Given the description of an element on the screen output the (x, y) to click on. 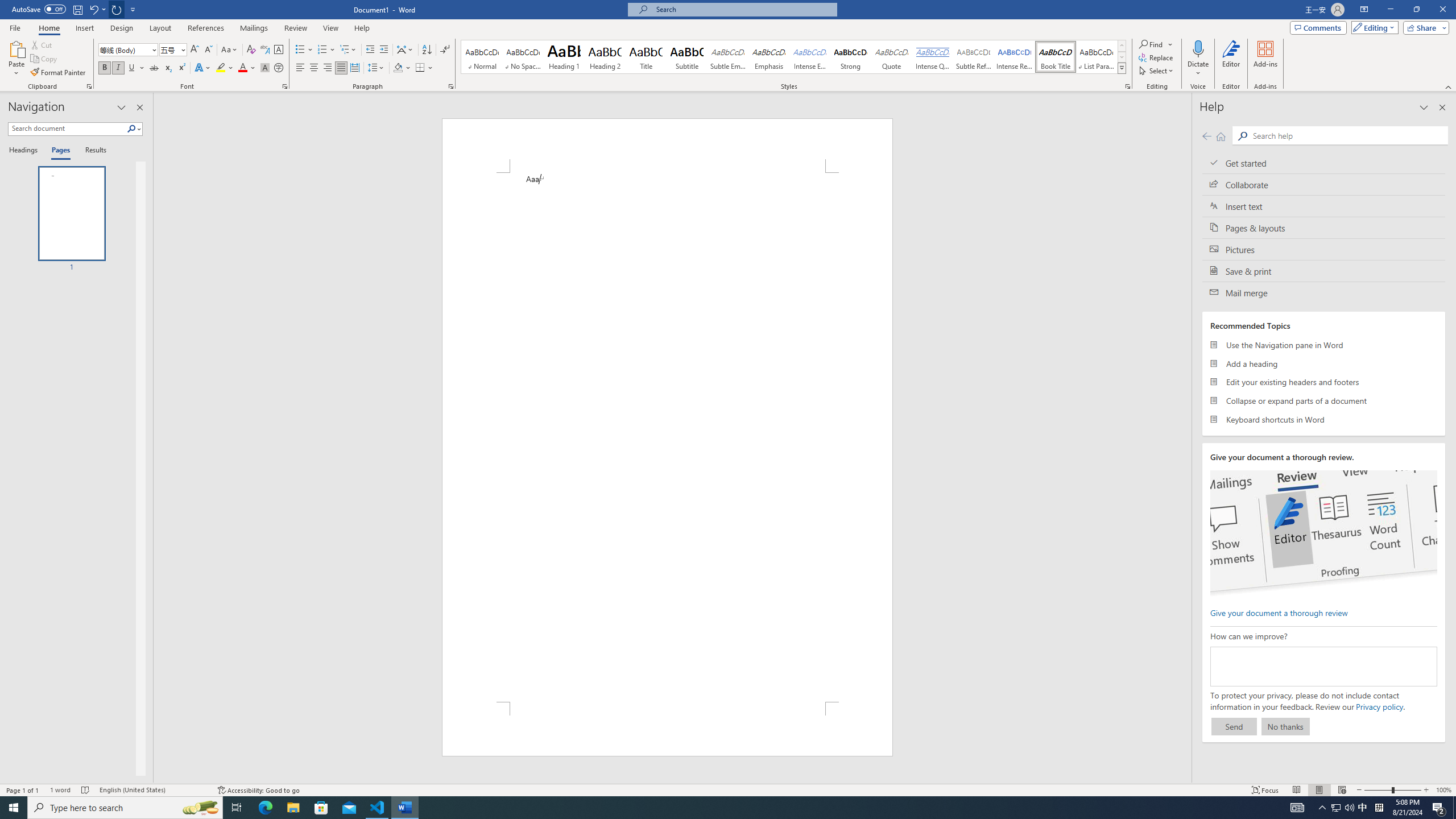
Character Border (278, 49)
Underline (131, 67)
Numbering (322, 49)
Class: NetUIScrollBar (1186, 437)
Intense Reference (1014, 56)
Subtle Emphasis (727, 56)
Intense Emphasis (809, 56)
Subscript (167, 67)
More Options (1197, 68)
Web Layout (1342, 790)
Save (77, 9)
Use the Navigation pane in Word (1323, 344)
Asian Layout (405, 49)
Keyboard shortcuts in Word (1323, 419)
